Given the description of an element on the screen output the (x, y) to click on. 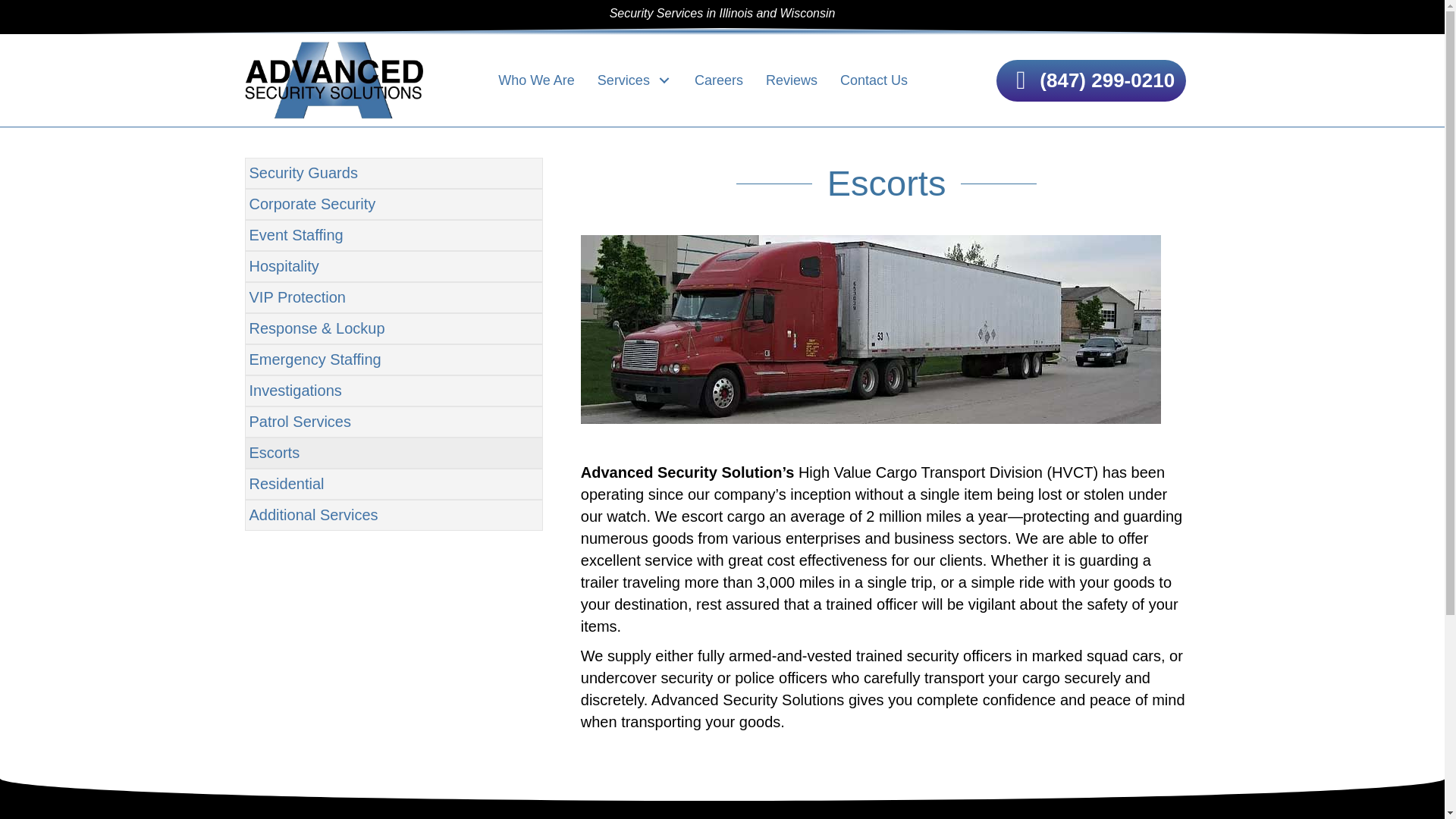
Reviews (791, 79)
Click Here (1090, 80)
Who We Are (536, 79)
logo (333, 79)
Services (634, 79)
Contact Us (873, 79)
Careers (718, 79)
